Given the description of an element on the screen output the (x, y) to click on. 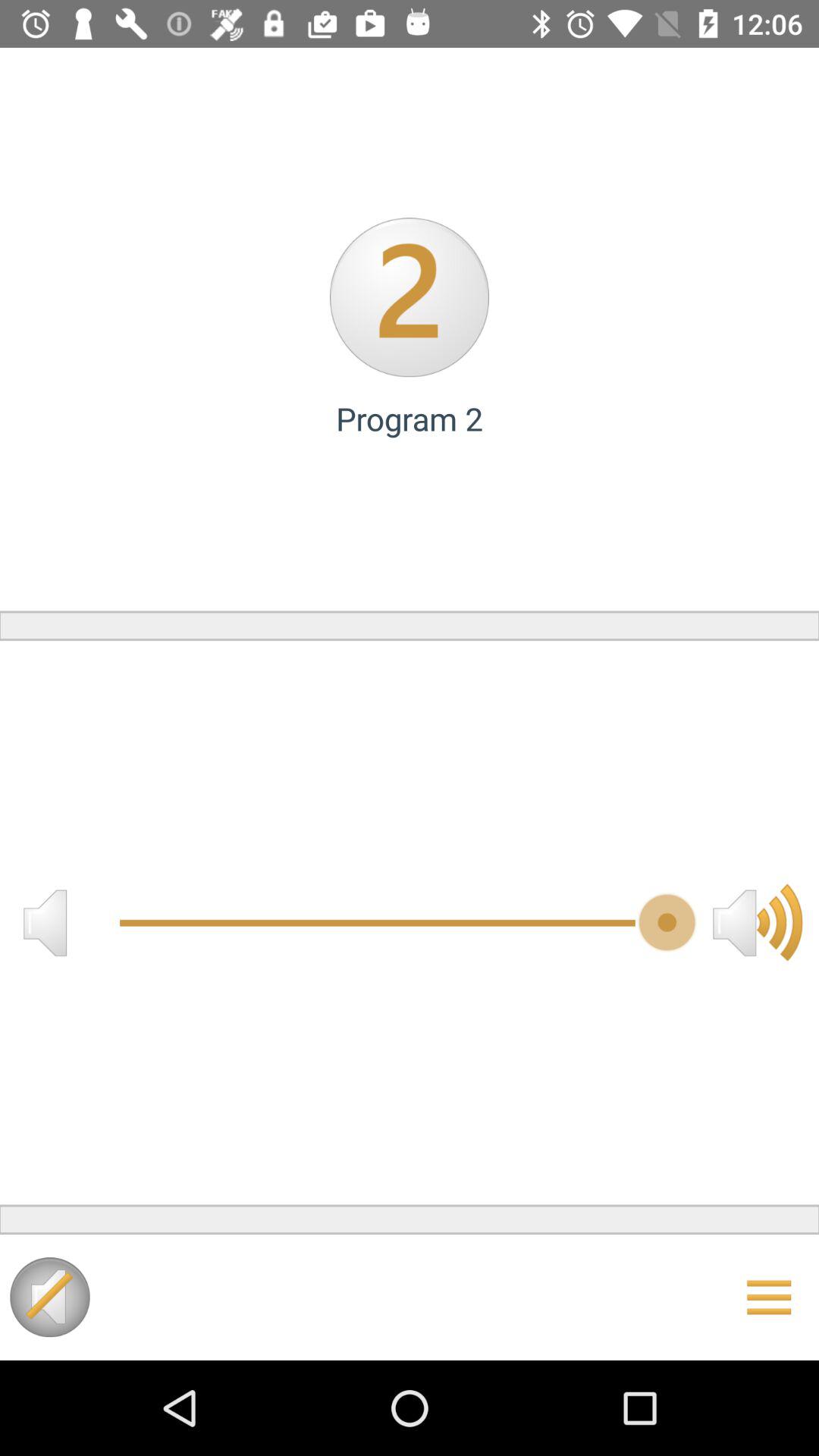
toggle mute (49, 1297)
